Given the description of an element on the screen output the (x, y) to click on. 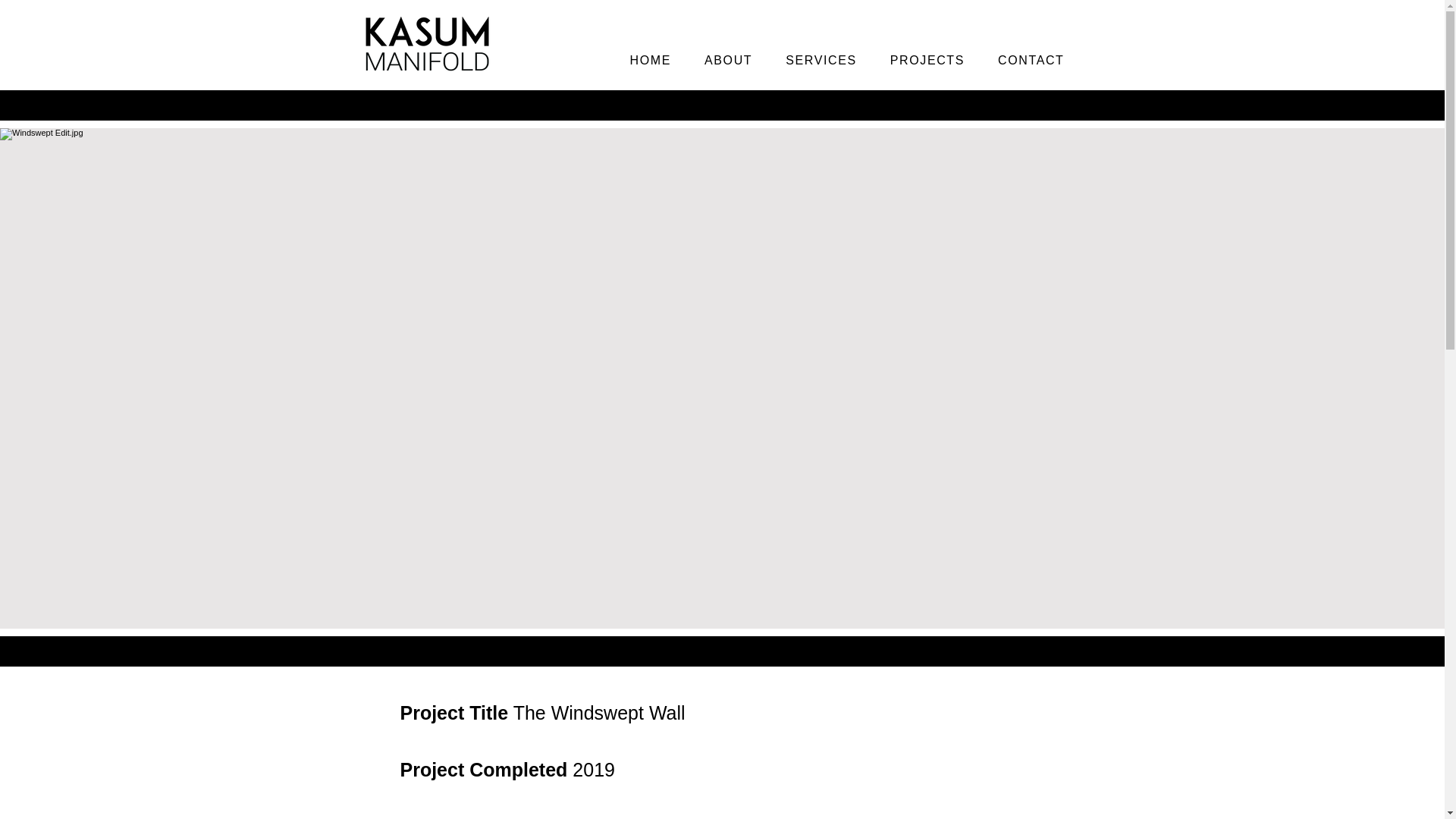
ABOUT (727, 60)
PROJECTS (927, 60)
HOME (649, 60)
CONTACT (1030, 60)
SERVICES (820, 60)
